Given the description of an element on the screen output the (x, y) to click on. 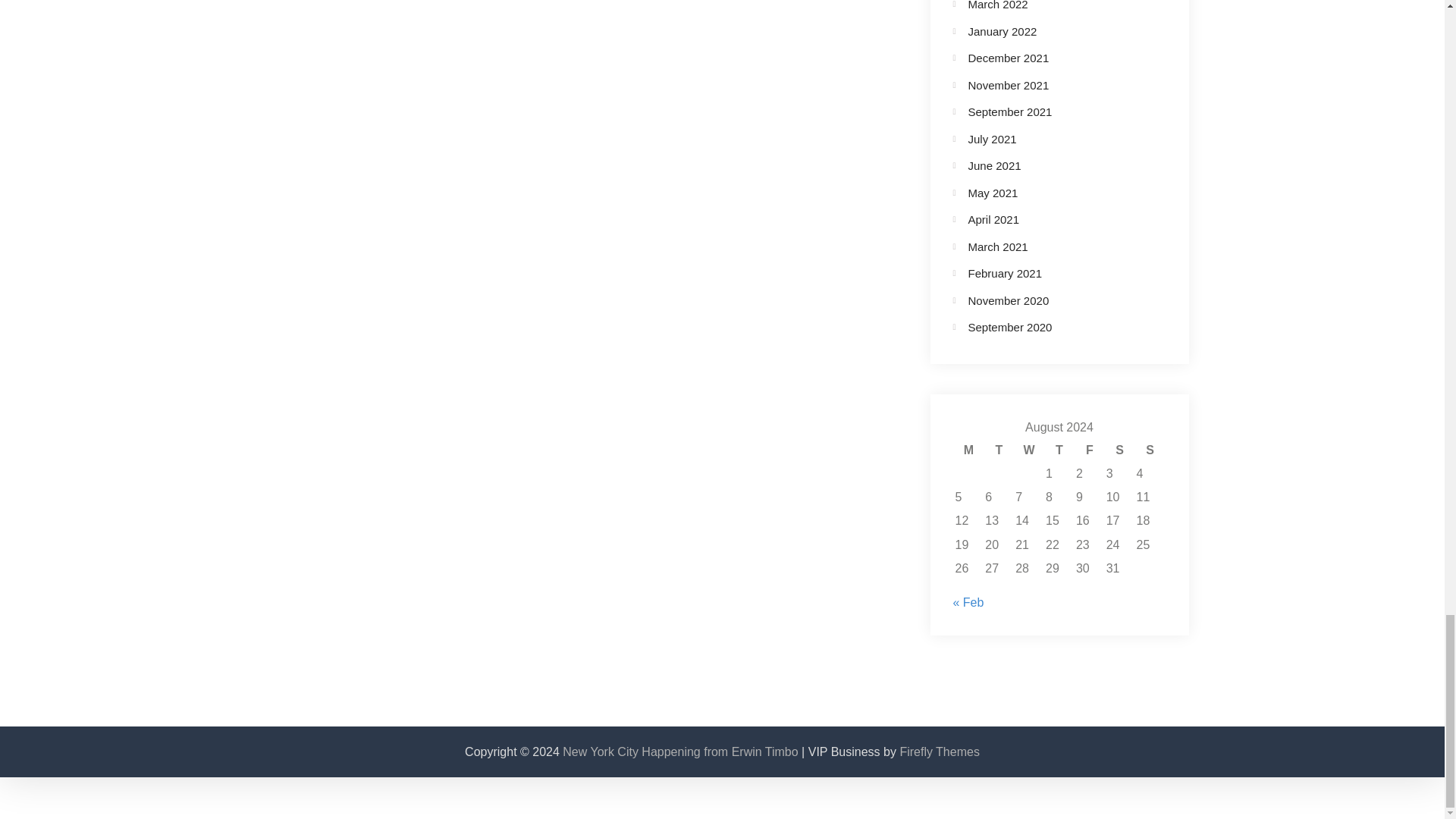
Friday (1089, 449)
Sunday (1149, 449)
Tuesday (998, 449)
Monday (967, 449)
Wednesday (1028, 449)
Thursday (1059, 449)
Saturday (1119, 449)
